Given the description of an element on the screen output the (x, y) to click on. 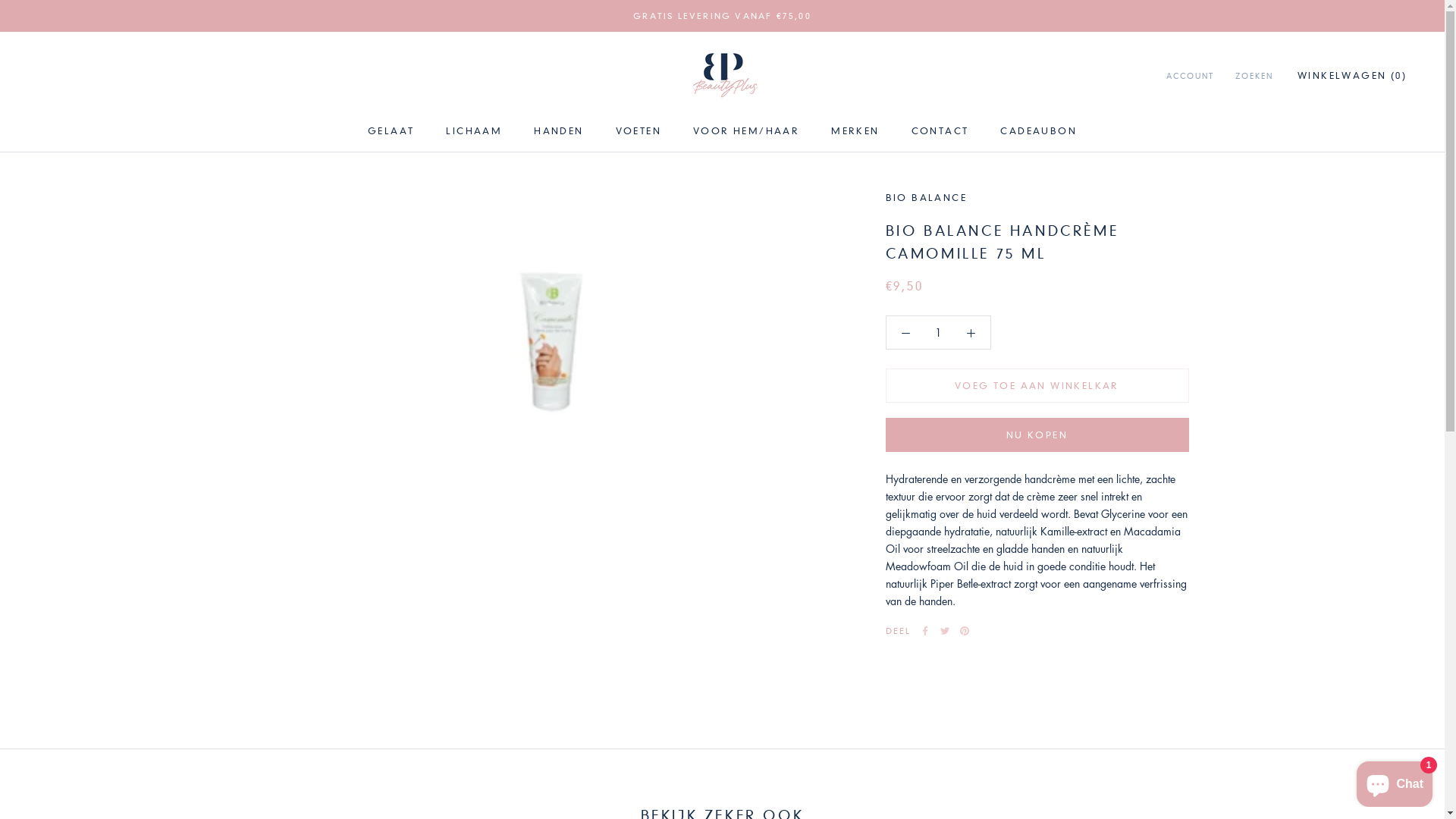
HANDEN Element type: text (558, 130)
GELAAT Element type: text (390, 130)
ZOEKEN Element type: text (1254, 76)
WINKELWAGEN (0) Element type: text (1351, 75)
BIO BALANCE Element type: text (925, 197)
Onlinewinkel-chat van Shopify Element type: hover (1394, 780)
ACCOUNT Element type: text (1190, 76)
VOETEN Element type: text (638, 130)
MERKEN Element type: text (854, 130)
CONTACT
CONTACT Element type: text (940, 130)
VOOR HEM/HAAR Element type: text (746, 130)
NU KOPEN Element type: text (1037, 434)
VOEG TOE AAN WINKELKAR Element type: text (1037, 385)
CADEAUBON Element type: text (1038, 130)
LICHAAM Element type: text (473, 130)
